Given the description of an element on the screen output the (x, y) to click on. 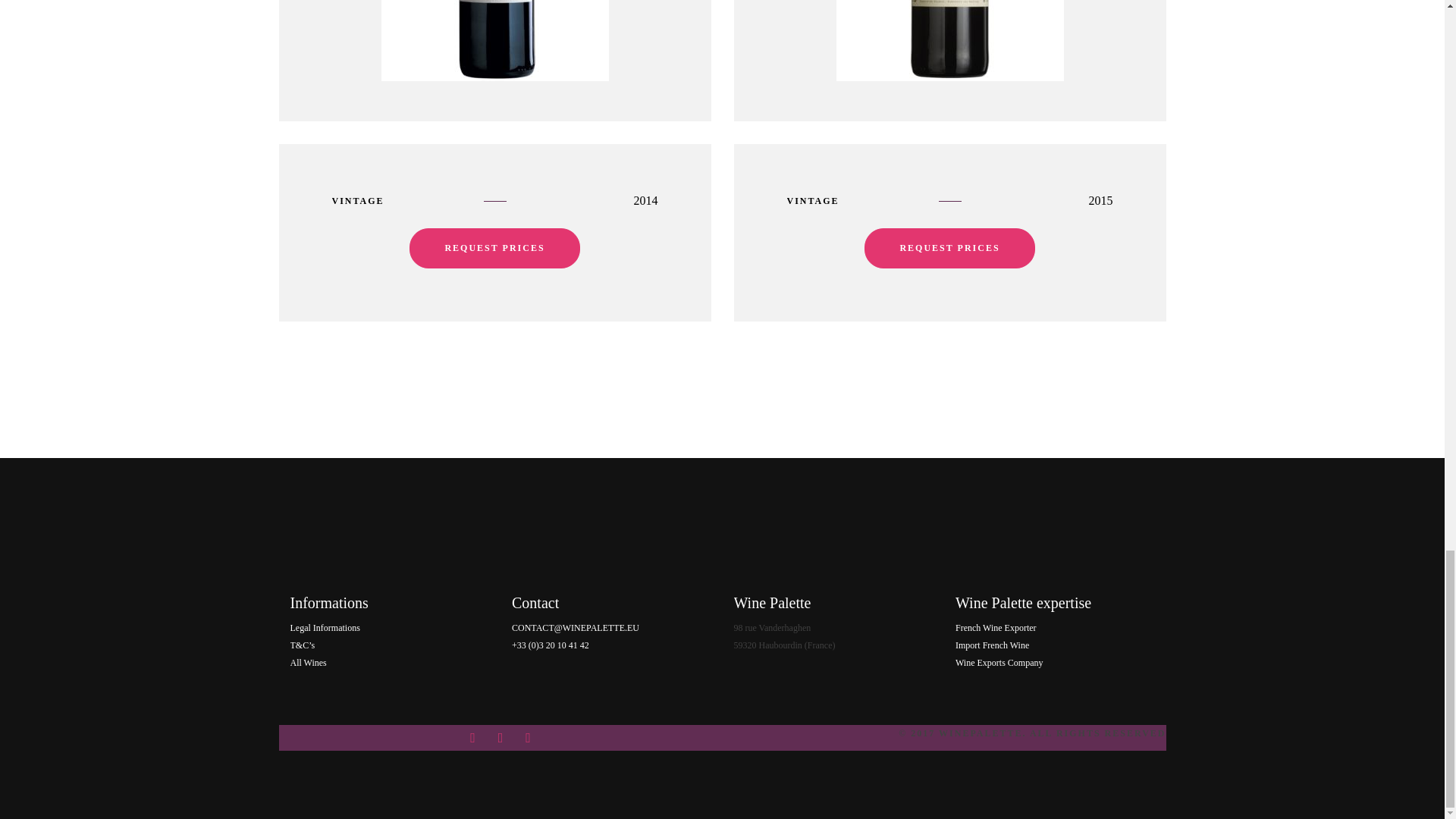
Import French Wine (992, 644)
Legal Informations (324, 627)
French Wine Exporter (995, 627)
REQUEST PRICES (494, 248)
Wine Exports Company (999, 662)
REQUEST PRICES (948, 248)
All Wines (307, 662)
